Given the description of an element on the screen output the (x, y) to click on. 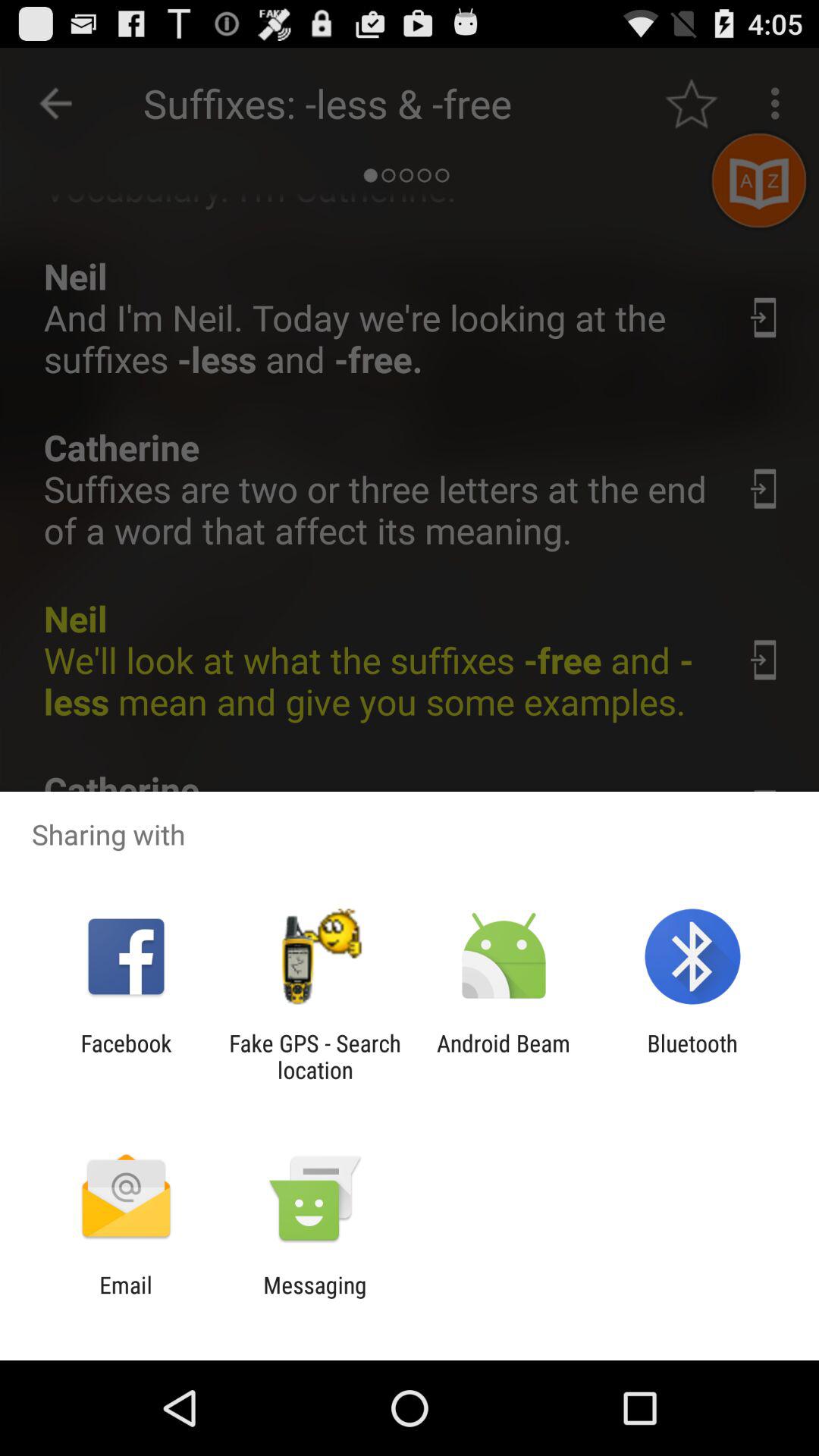
choose item to the right of email icon (314, 1298)
